Given the description of an element on the screen output the (x, y) to click on. 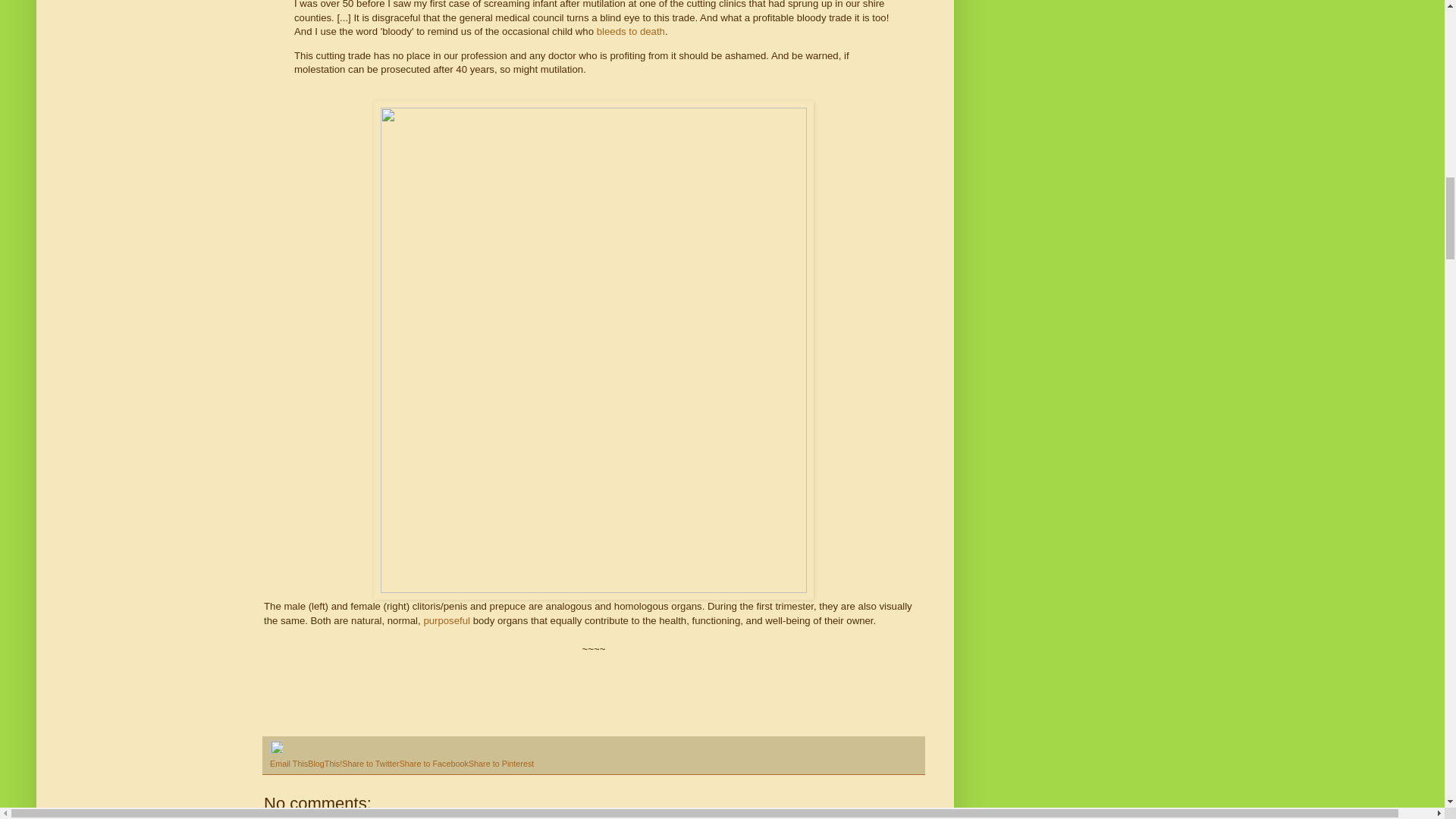
Share to Facebook (433, 763)
bleeds to death (630, 30)
Edit Post (276, 750)
Email This (288, 763)
Share to Pinterest (501, 763)
Share to Twitter (370, 763)
BlogThis! (324, 763)
purposeful (446, 620)
BlogThis! (324, 763)
Share to Twitter (370, 763)
Email This (288, 763)
Share to Facebook (433, 763)
Share to Pinterest (501, 763)
